Given the description of an element on the screen output the (x, y) to click on. 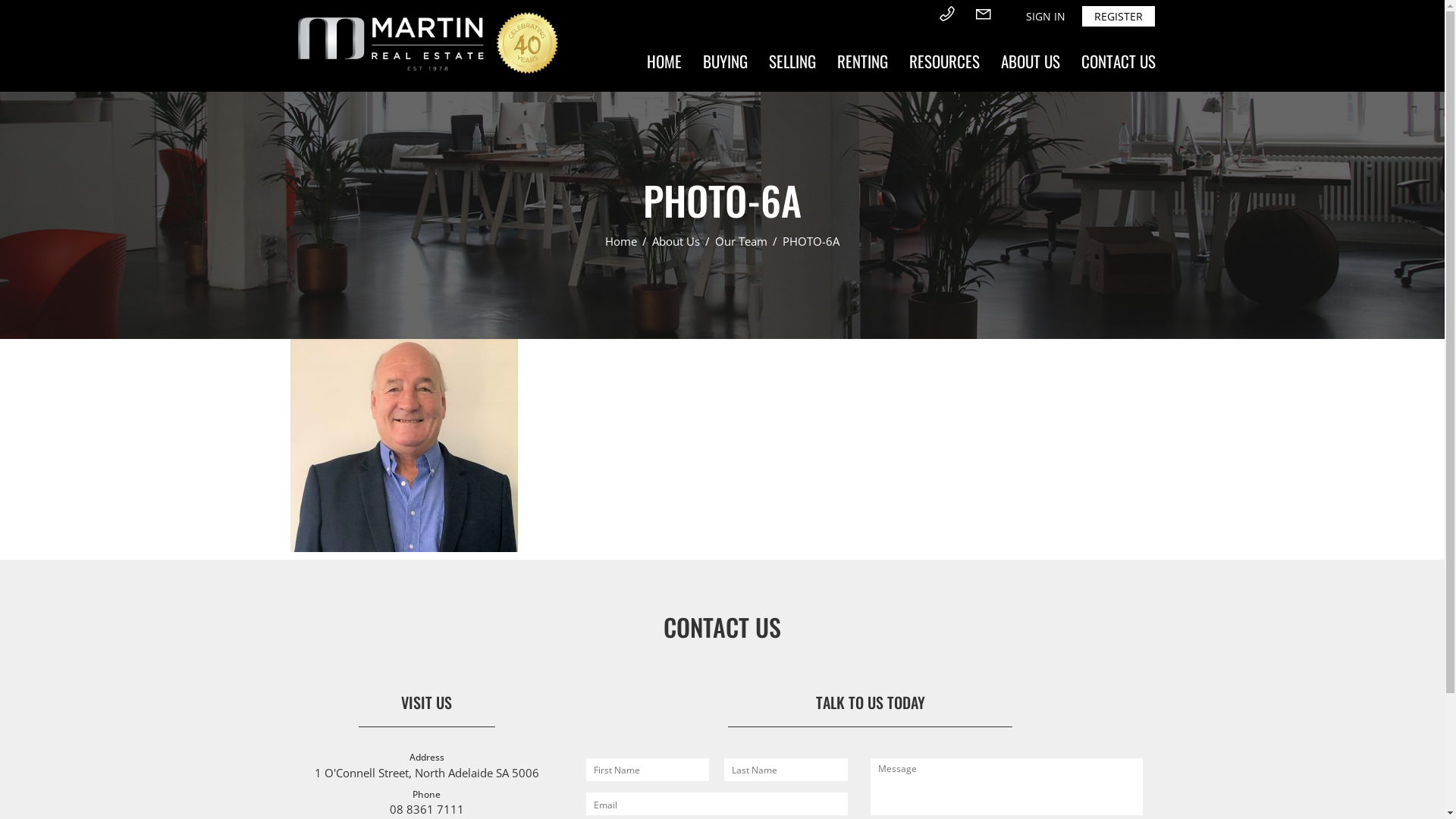
SELLING Element type: text (792, 61)
REGISTER Element type: text (1117, 16)
RESOURCES Element type: text (943, 61)
CONTACT US Element type: text (1118, 61)
BUYING Element type: text (724, 61)
About Us Element type: text (677, 240)
ABOUT US Element type: text (1030, 61)
SIGN IN Element type: text (1044, 16)
HOME Element type: text (663, 61)
Our Team Element type: text (742, 240)
RENTING Element type: text (862, 61)
Home Element type: text (622, 240)
08 8361 7111 Element type: text (426, 808)
